Given the description of an element on the screen output the (x, y) to click on. 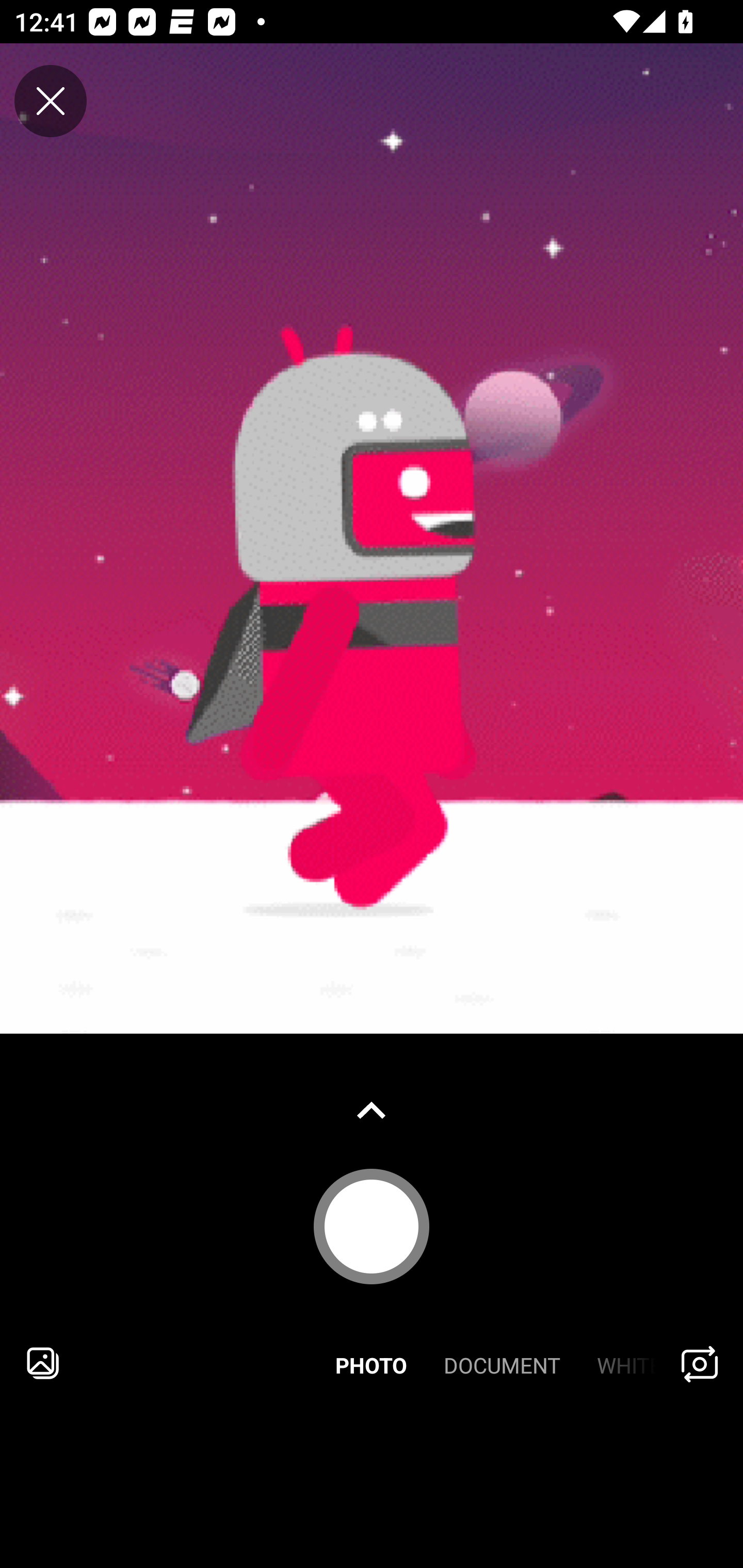
Close (50, 101)
Show gallery (371, 1110)
Capture (371, 1226)
Import (43, 1363)
Flip Camera (699, 1363)
PHOTO (371, 1362)
DOCUMENT (502, 1362)
WHITEBOARD (619, 1362)
